Given the description of an element on the screen output the (x, y) to click on. 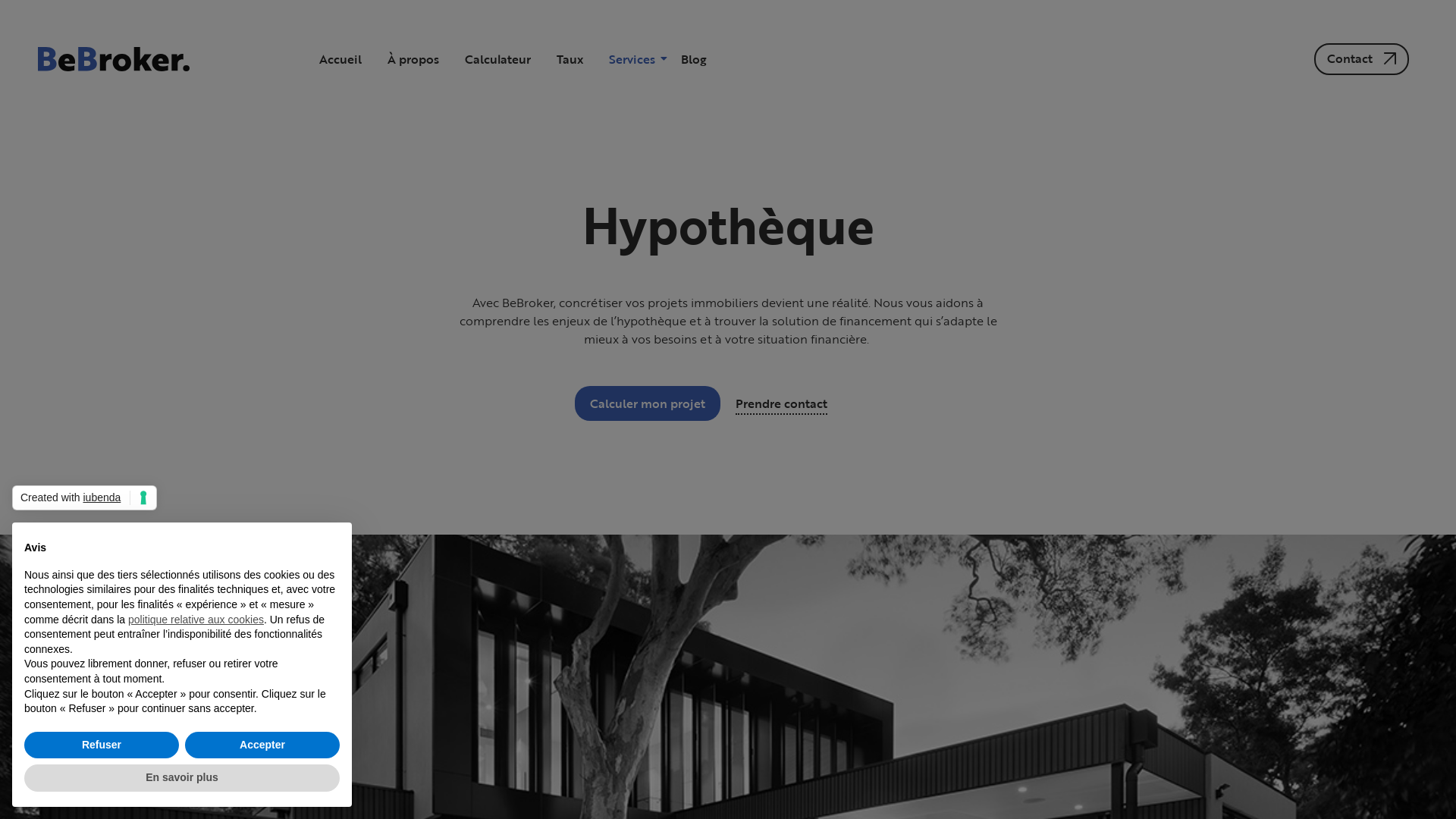
Prendre contact Element type: text (781, 399)
Taux Element type: text (569, 58)
En savoir plus Element type: text (181, 777)
Services Element type: text (631, 58)
Calculer mon projet Element type: text (647, 402)
Refuser Element type: text (101, 745)
Accueil Element type: text (340, 58)
Calculateur Element type: text (497, 58)
Accepter Element type: text (262, 745)
Created with iubenda Element type: text (84, 498)
politique relative aux cookies Element type: text (195, 619)
Blog Element type: text (693, 58)
